Given the description of an element on the screen output the (x, y) to click on. 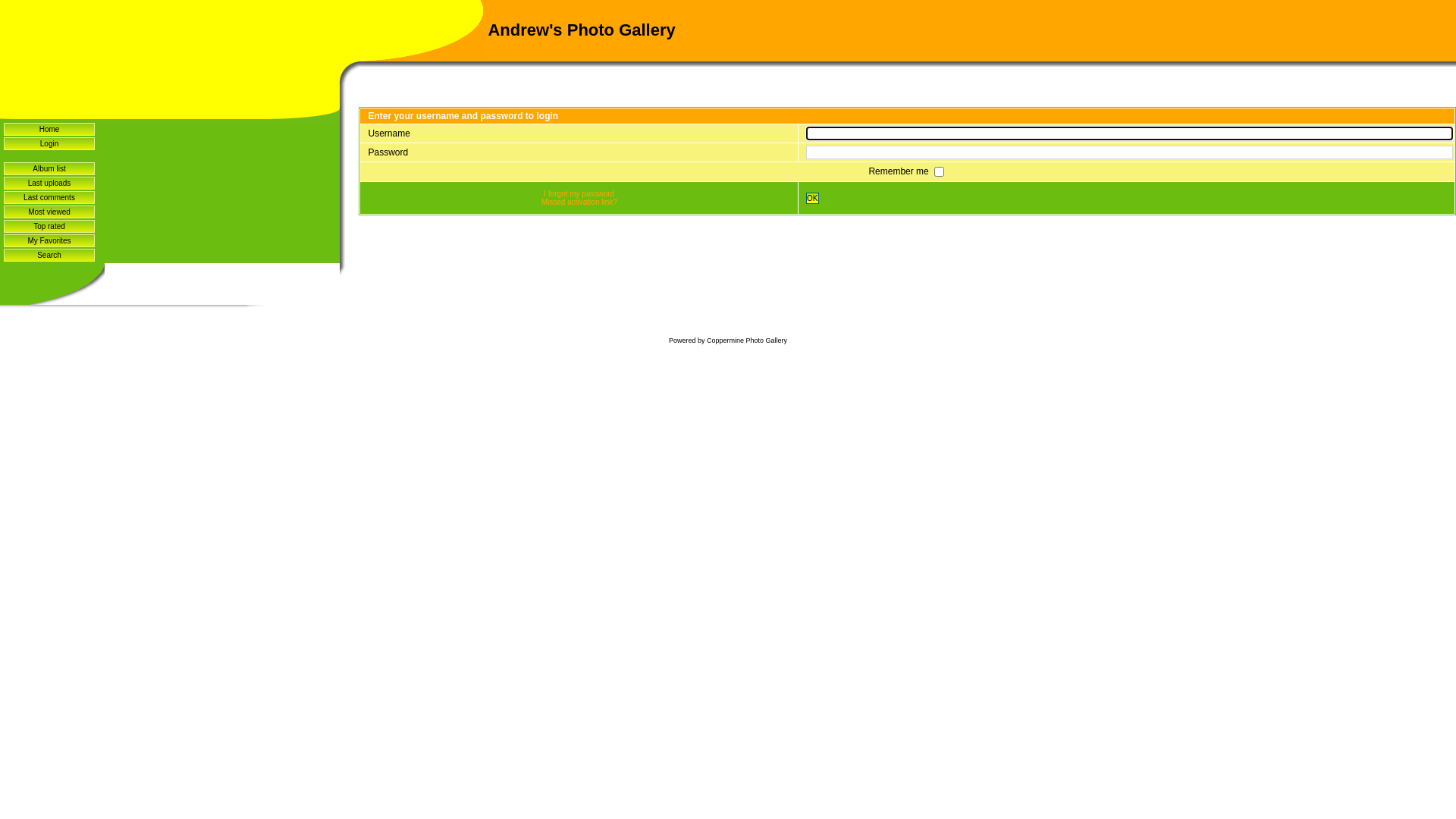
Coppermine Photo Gallery Element type: text (746, 340)
Login Element type: text (48, 143)
I forgot my password Element type: text (578, 193)
Album list Element type: text (48, 168)
Last comments Element type: text (48, 197)
Most viewed Element type: text (48, 211)
Last uploads Element type: text (48, 182)
Home Element type: text (48, 128)
OK Element type: text (812, 197)
Missed activation link? Element type: text (579, 201)
Top rated Element type: text (48, 225)
My Favorites Element type: text (48, 240)
Search Element type: text (48, 254)
